Given the description of an element on the screen output the (x, y) to click on. 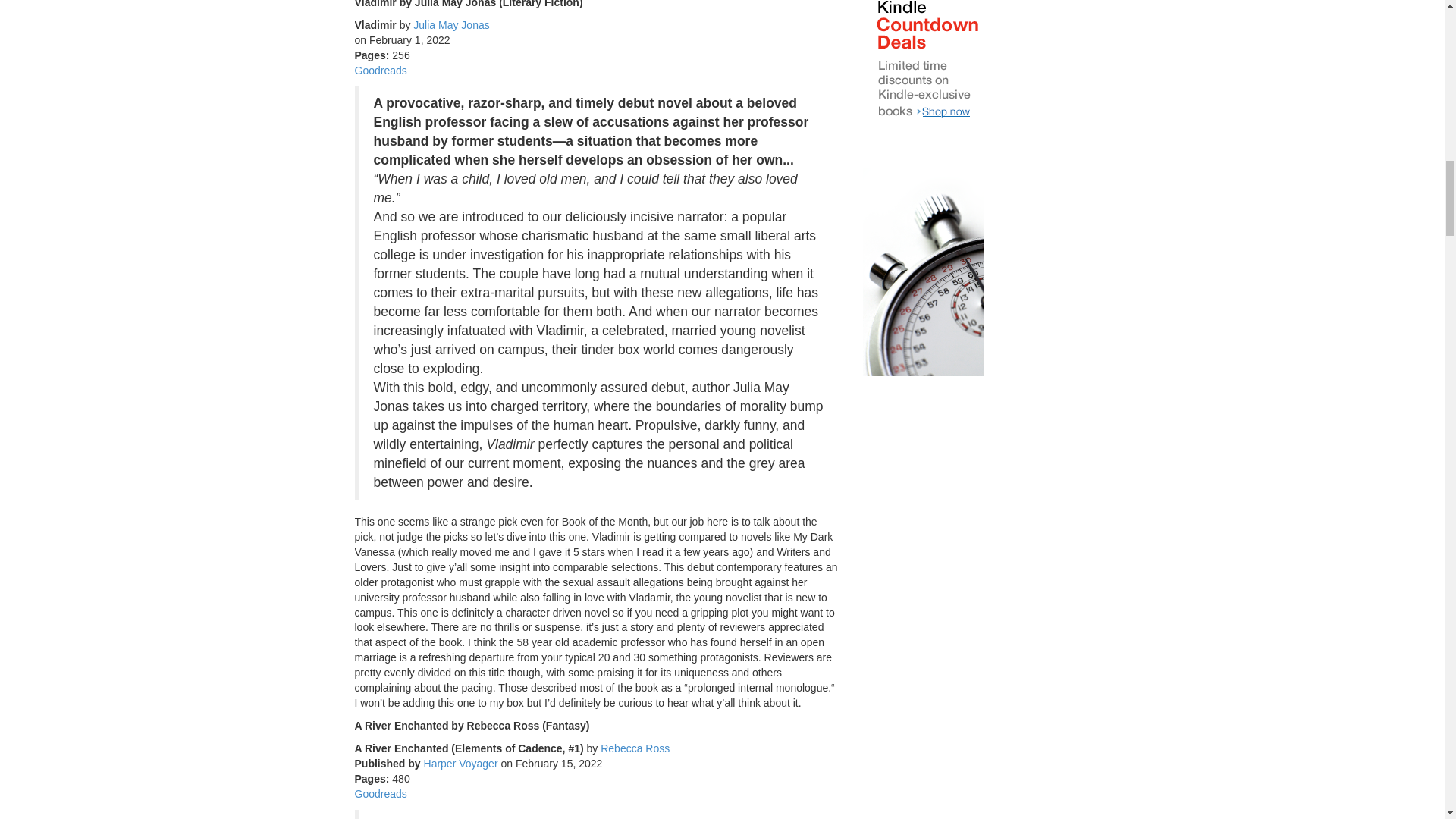
Julia May Jonas (451, 24)
Harper Voyager (460, 763)
Rebecca Ross (634, 748)
Goodreads (381, 793)
Goodreads (381, 70)
